Given the description of an element on the screen output the (x, y) to click on. 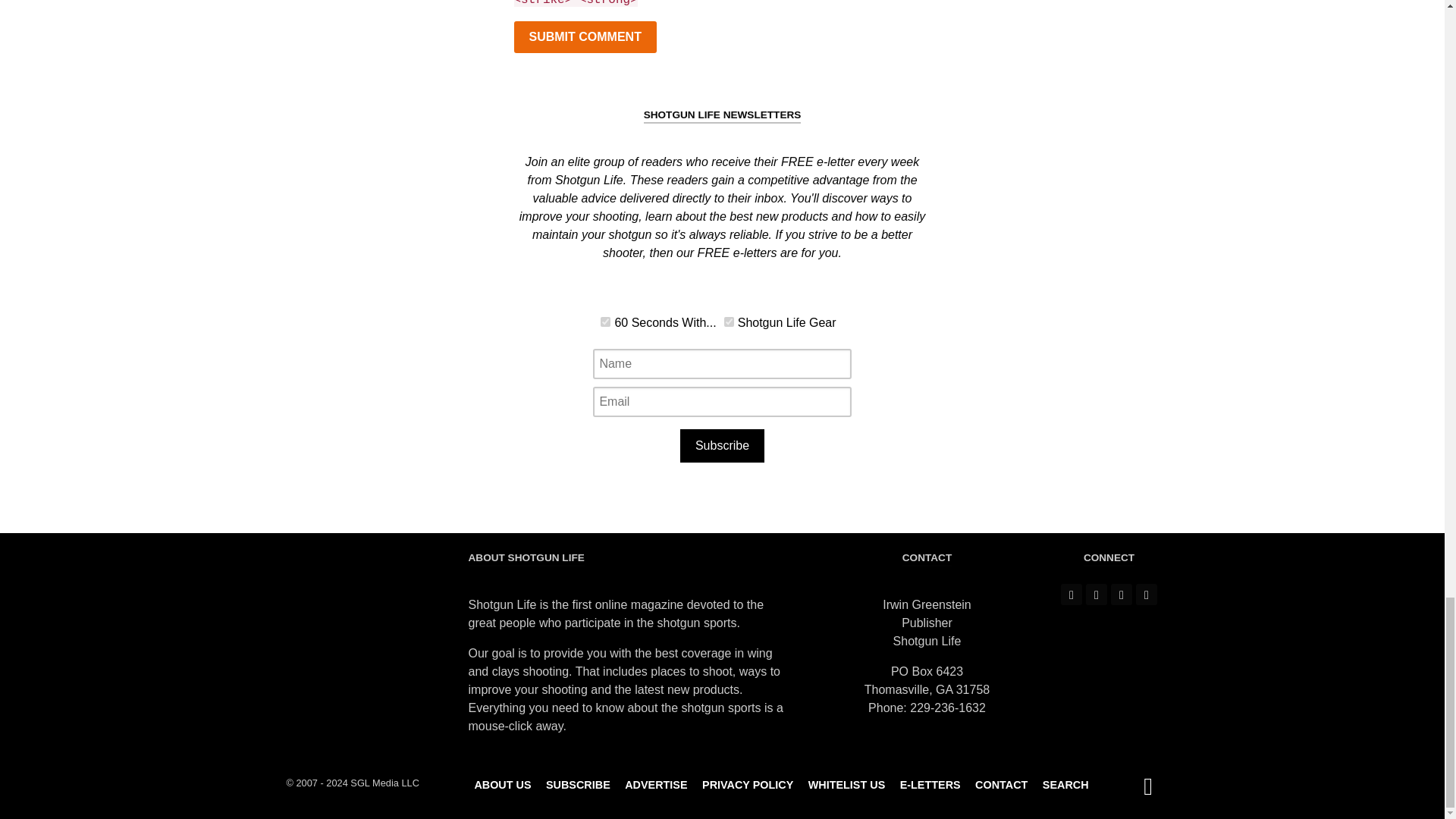
3 (604, 321)
Submit Comment (584, 37)
10 (728, 321)
